Given the description of an element on the screen output the (x, y) to click on. 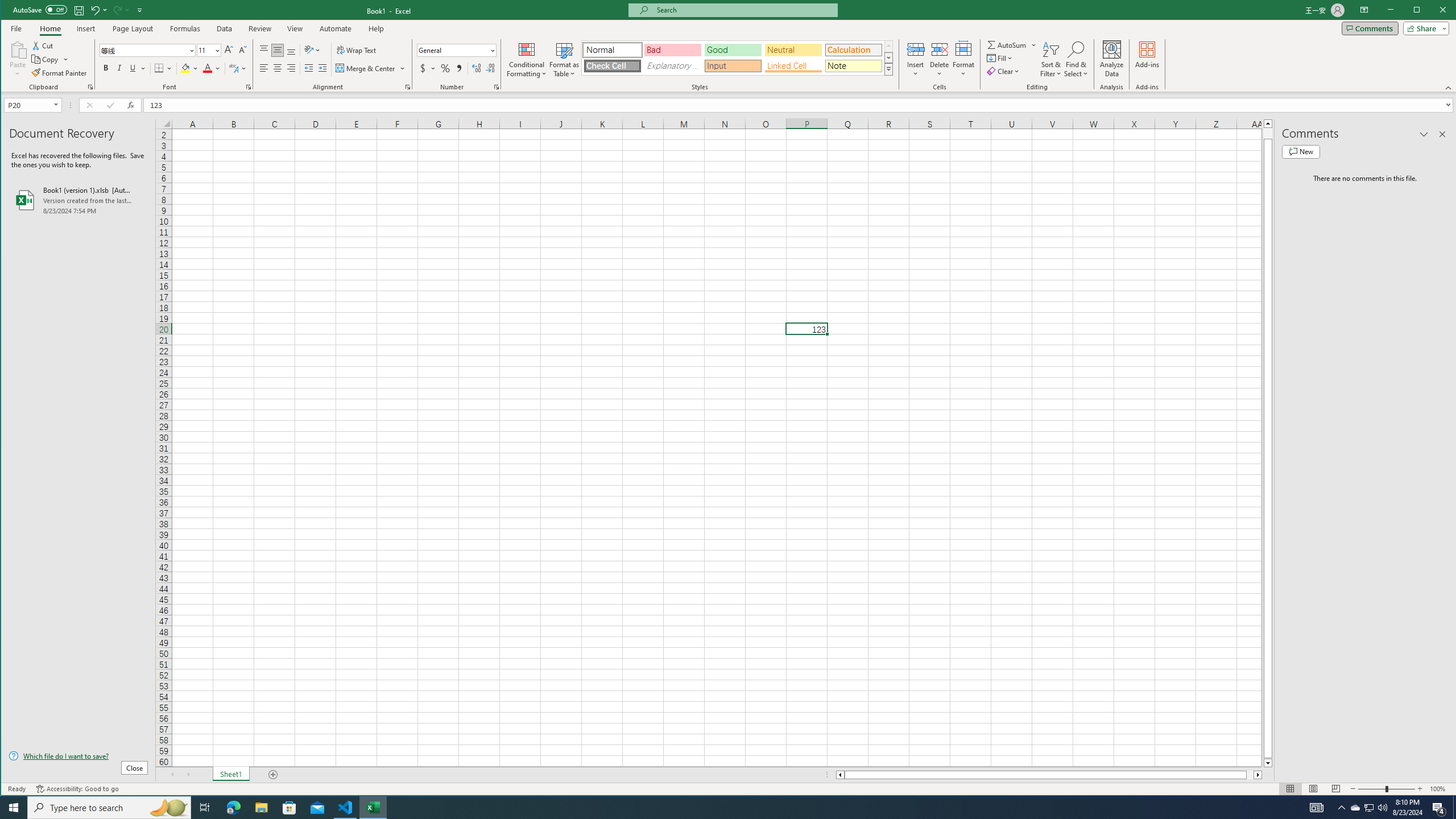
Bottom Align (291, 49)
Delete (939, 59)
Fill Color RGB(255, 255, 0) (185, 68)
Format Cell Number (496, 86)
New comment (1300, 151)
Font Color RGB(255, 0, 0) (207, 68)
Show desktop (1454, 807)
Explanatory Text (672, 65)
